Given the description of an element on the screen output the (x, y) to click on. 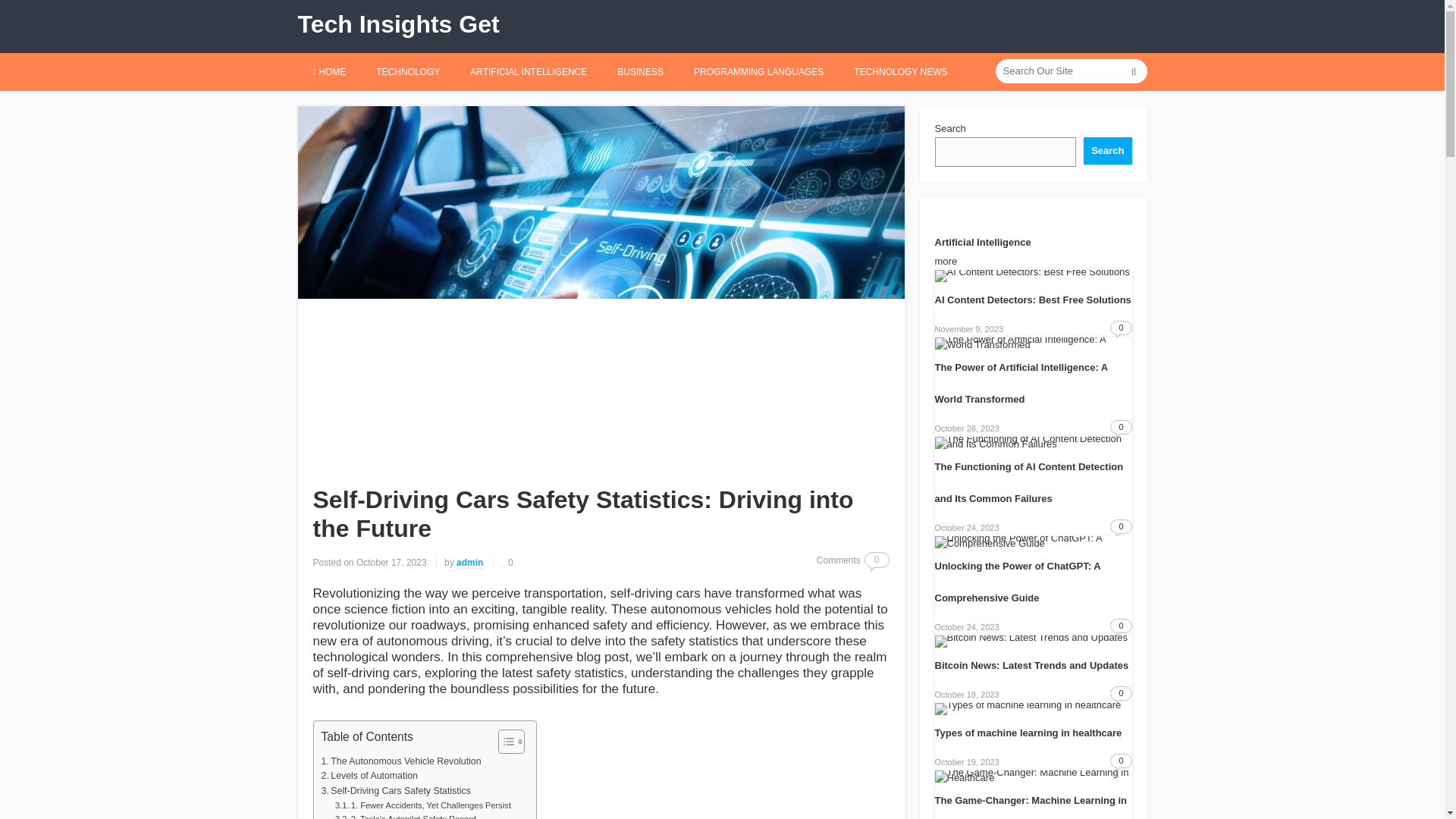
Tech Insights Get (398, 23)
0 (876, 560)
The Autonomous Vehicle Revolution (401, 761)
PROGRAMMING LANGUAGES (758, 71)
The Autonomous Vehicle Revolution (401, 761)
Self-Driving Cars Safety Statistics (395, 791)
0 (506, 562)
admin (470, 562)
BUSINESS (640, 71)
Levels of Automation (369, 776)
ARTIFICIAL INTELLIGENCE (528, 71)
Levels of Automation (369, 776)
Self-Driving Cars Safety Statistics (395, 791)
HOME (329, 71)
TECHNOLOGY (407, 71)
